Given the description of an element on the screen output the (x, y) to click on. 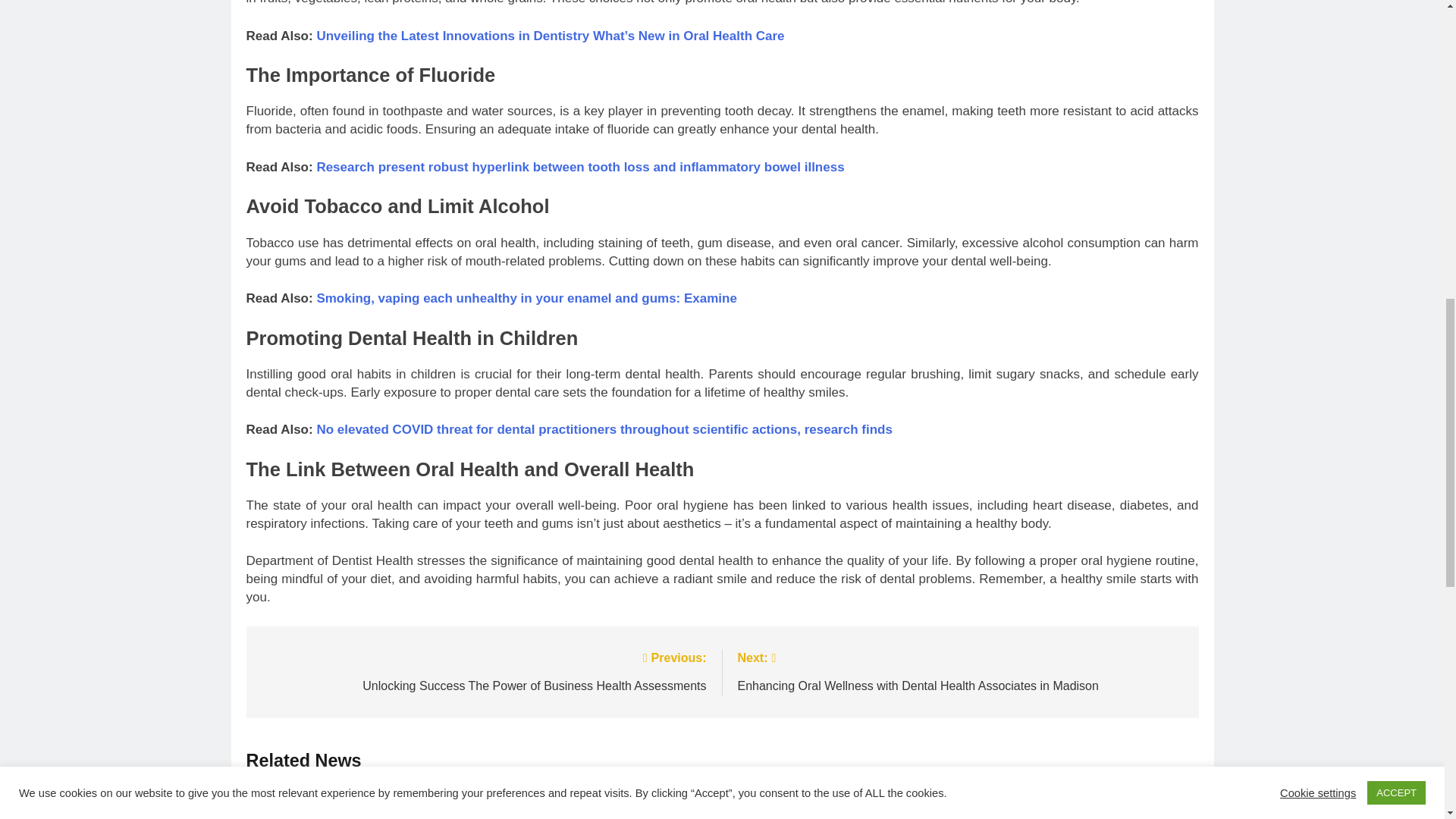
The Top Every Kids Dentist Buckeye for Exceptional Pediatric (788, 800)
